Given the description of an element on the screen output the (x, y) to click on. 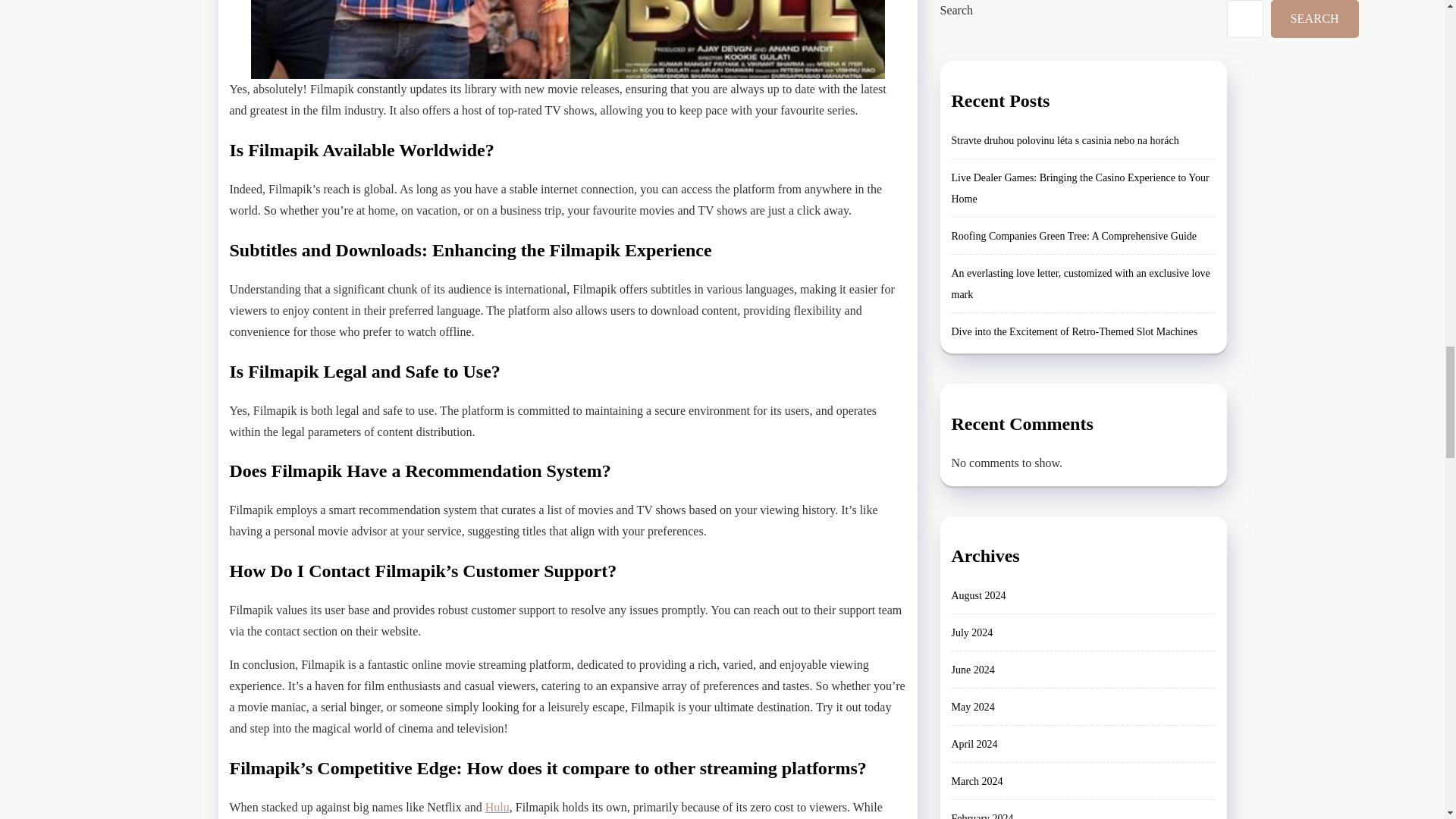
Hulu (496, 807)
